Given the description of an element on the screen output the (x, y) to click on. 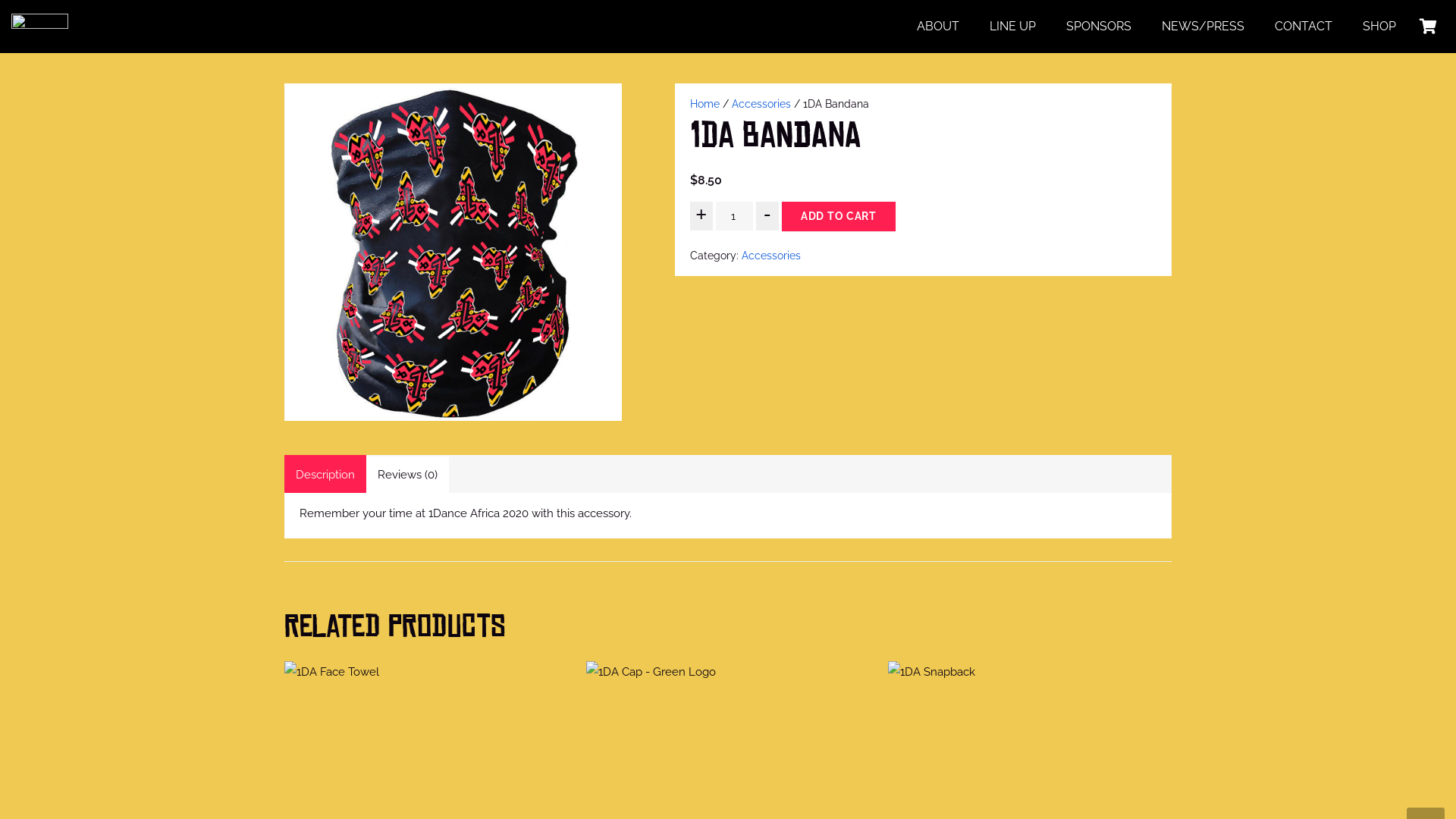
Description Element type: text (325, 474)
+ Element type: text (701, 215)
SHOP Element type: text (1379, 26)
- Element type: text (767, 215)
SPONSORS Element type: text (1098, 26)
LINE UP Element type: text (1012, 26)
ADD TO CART Element type: text (838, 216)
Qty Element type: hover (734, 215)
Accessories Element type: text (760, 103)
Reviews (0) Element type: text (407, 474)
Accessories Element type: text (770, 255)
0 Element type: text (1427, 26)
1DA Bandana 1 Element type: hover (452, 251)
Home Element type: text (704, 103)
ABOUT Element type: text (937, 26)
CONTACT Element type: text (1303, 26)
NEWS/PRESS Element type: text (1202, 26)
